Given the description of an element on the screen output the (x, y) to click on. 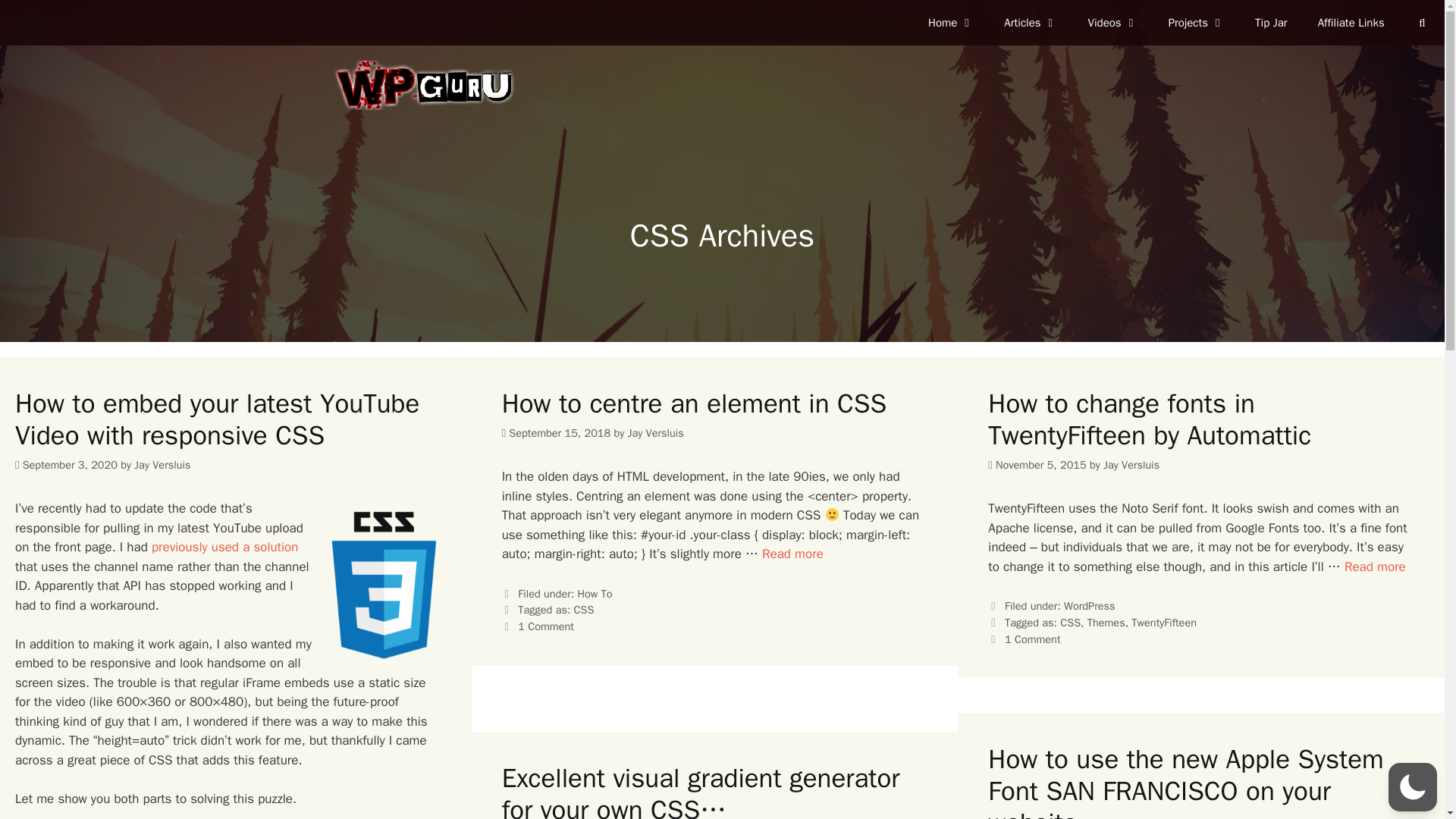
Home (950, 22)
Tip Jar (1271, 22)
Articles (1029, 22)
Projects (1196, 22)
How to change fonts in TwentyFifteen by Automattic (1374, 566)
View all posts by Jay Versluis (161, 464)
View all posts by Jay Versluis (1130, 464)
View all posts by Jay Versluis (655, 432)
Videos (1113, 22)
Affiliate Links (1351, 22)
How to centre an element in CSS (792, 553)
